Given the description of an element on the screen output the (x, y) to click on. 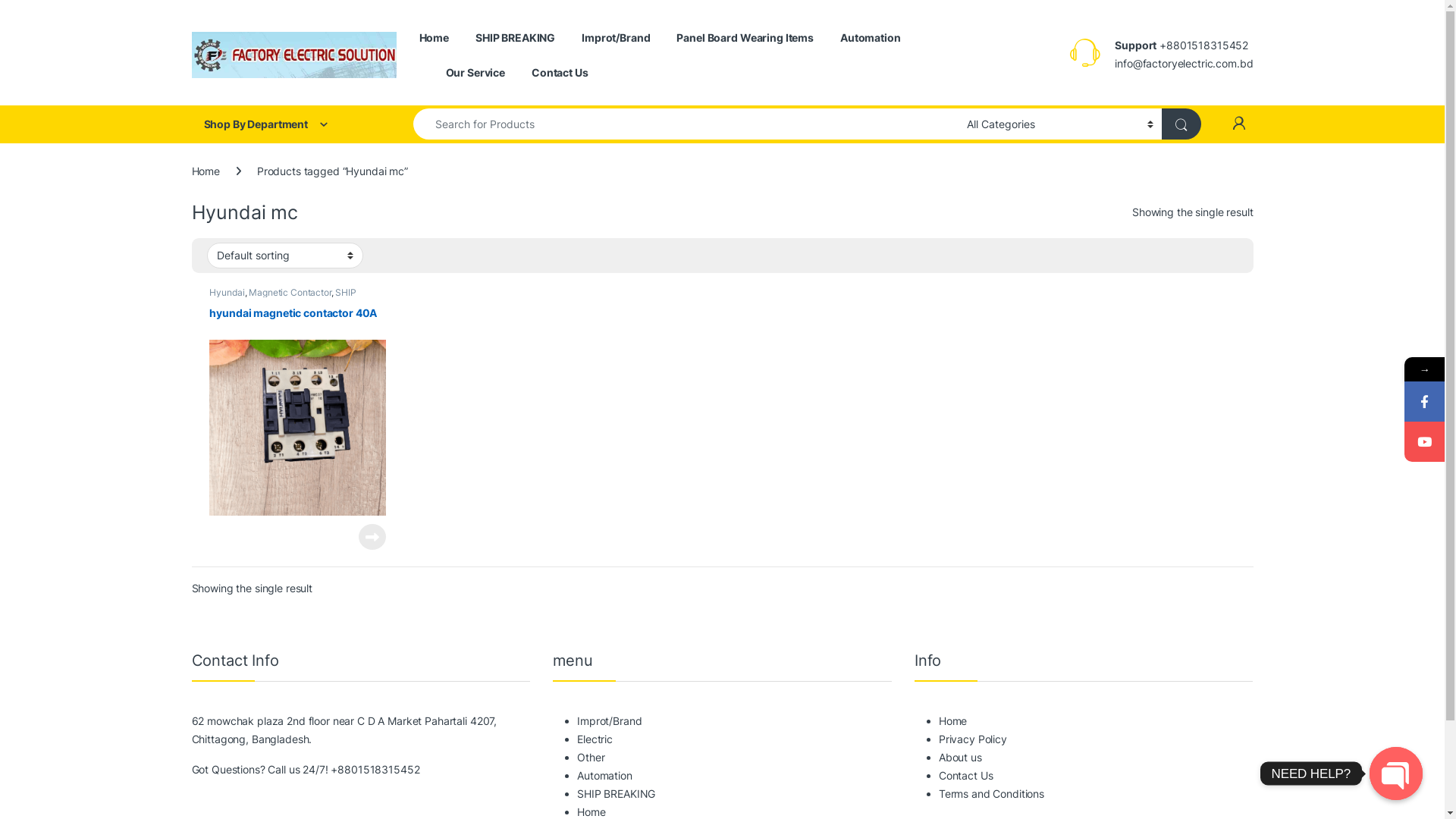
About us Element type: text (960, 756)
Privacy Policy Element type: text (972, 738)
YouTube Element type: hover (1424, 441)
Improt/Brand Element type: text (609, 720)
Magnetic Contactor Element type: text (289, 292)
View Product Element type: text (371, 536)
+8801518315452 Element type: text (374, 768)
Our Service Element type: text (475, 72)
Electric Element type: text (594, 738)
Automation Element type: text (870, 37)
Terms and Conditions Element type: text (991, 793)
Home Element type: text (952, 720)
SHIP BREAKING Element type: text (515, 37)
Hyundai Element type: text (226, 292)
Panel Board Wearing Items Element type: text (744, 37)
Contact Us Element type: text (559, 72)
hyundai magnetic contactor 40A Element type: text (297, 410)
Home Element type: text (205, 170)
Home Element type: text (591, 811)
Automation Element type: text (604, 774)
Other Element type: text (590, 756)
Shop By Department Element type: text (287, 124)
Home Element type: text (433, 37)
Contact Us Element type: text (965, 774)
Facebook Element type: hover (1424, 401)
Improt/Brand Element type: text (615, 37)
SHIP BREAKING Element type: text (282, 296)
SHIP BREAKING Element type: text (616, 793)
